Given the description of an element on the screen output the (x, y) to click on. 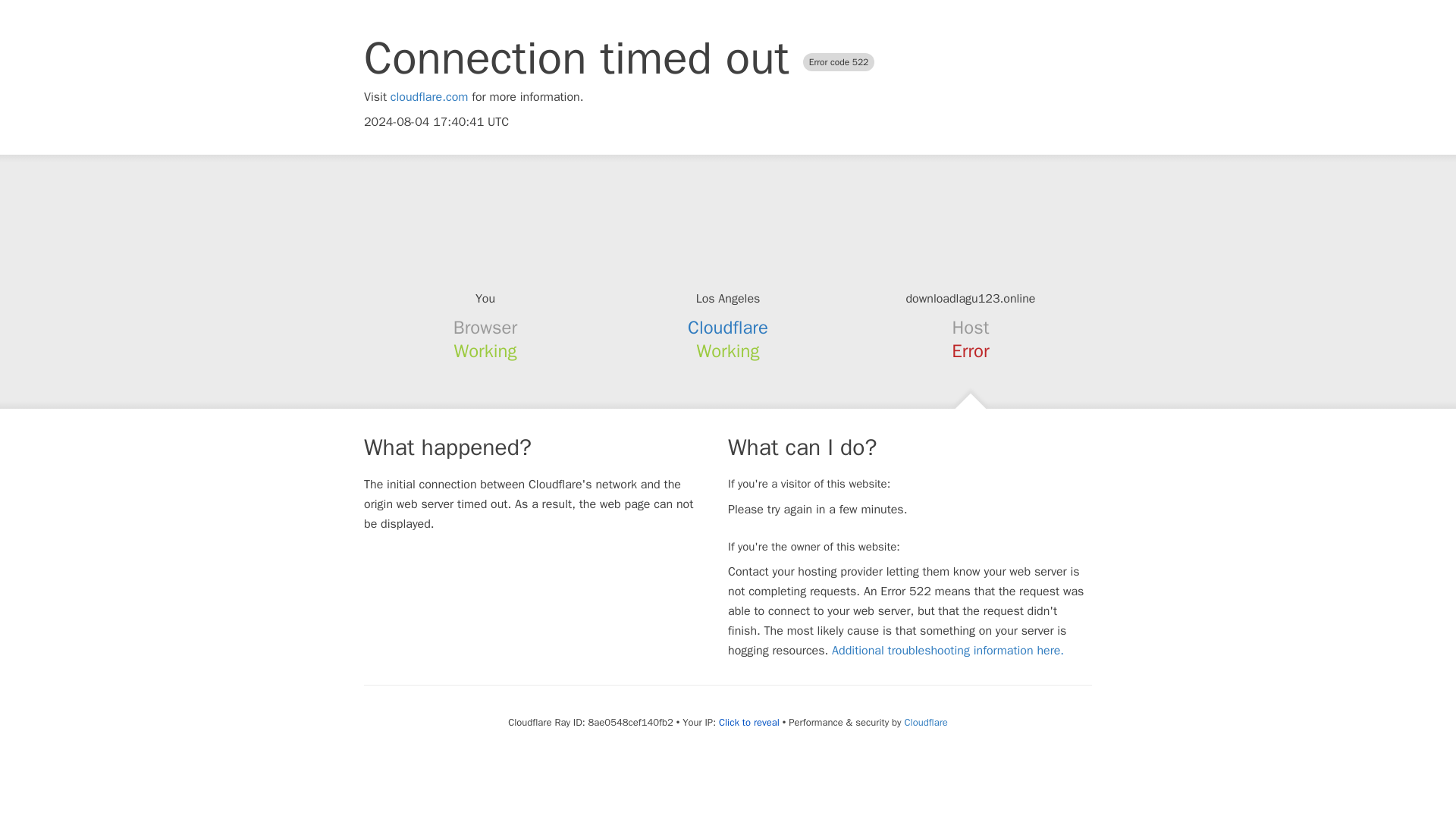
Click to reveal (748, 722)
Cloudflare (925, 721)
cloudflare.com (429, 96)
Cloudflare (727, 327)
Additional troubleshooting information here. (947, 650)
